Given the description of an element on the screen output the (x, y) to click on. 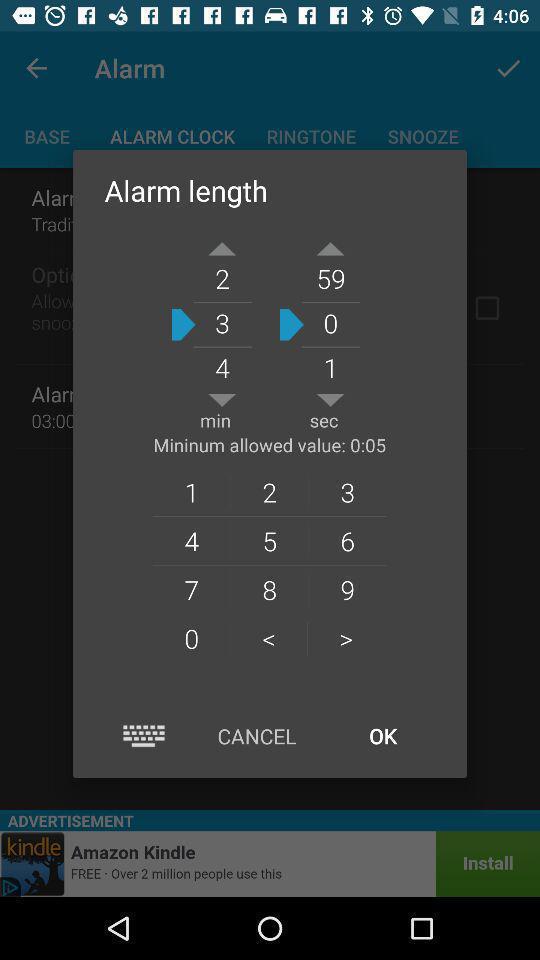
flip to ok (382, 735)
